Given the description of an element on the screen output the (x, y) to click on. 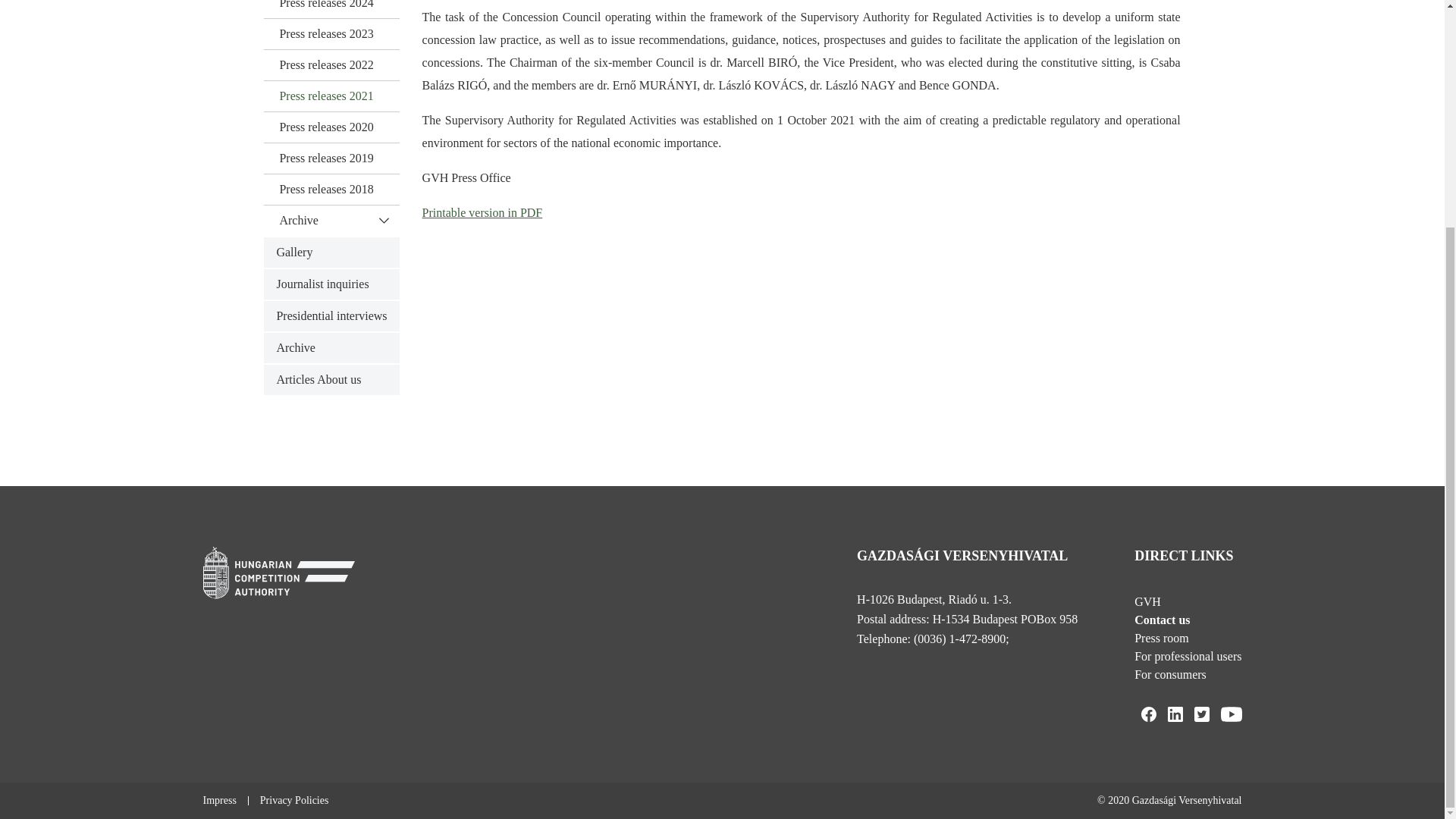
Open in new tab (1174, 713)
Jump to mainpage (279, 572)
Impress (219, 800)
Hungarian Competition Authority (279, 575)
Privacy Policies (294, 800)
Open in new tab (1200, 713)
Open in new tab (1148, 713)
Open in new tab (1231, 713)
